Given the description of an element on the screen output the (x, y) to click on. 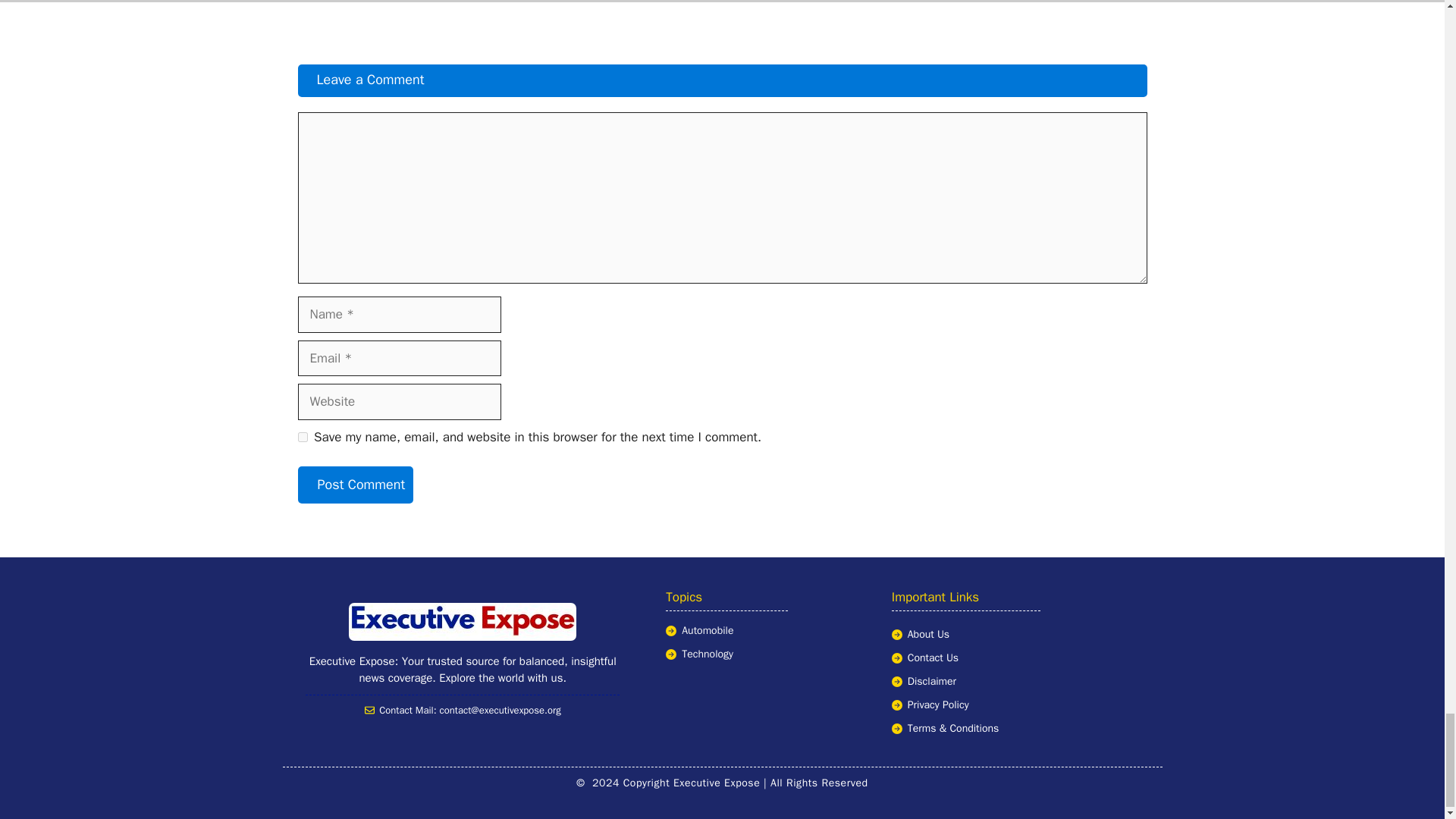
yes (302, 437)
Post Comment (355, 484)
Executive Expose (462, 621)
